Given the description of an element on the screen output the (x, y) to click on. 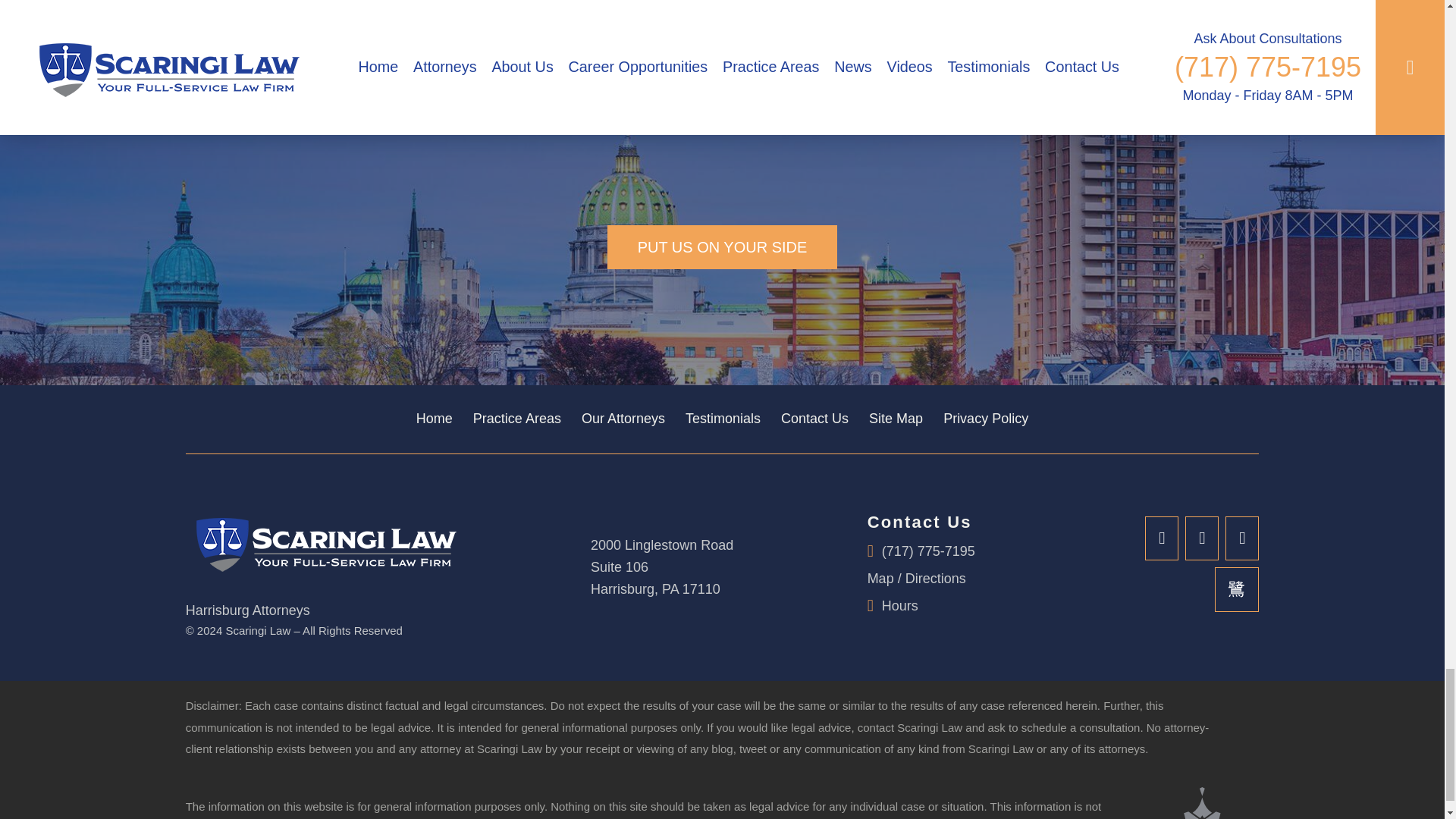
Scaringi Law (321, 541)
Scorpion Legal Internet Marketing (1202, 803)
